Given the description of an element on the screen output the (x, y) to click on. 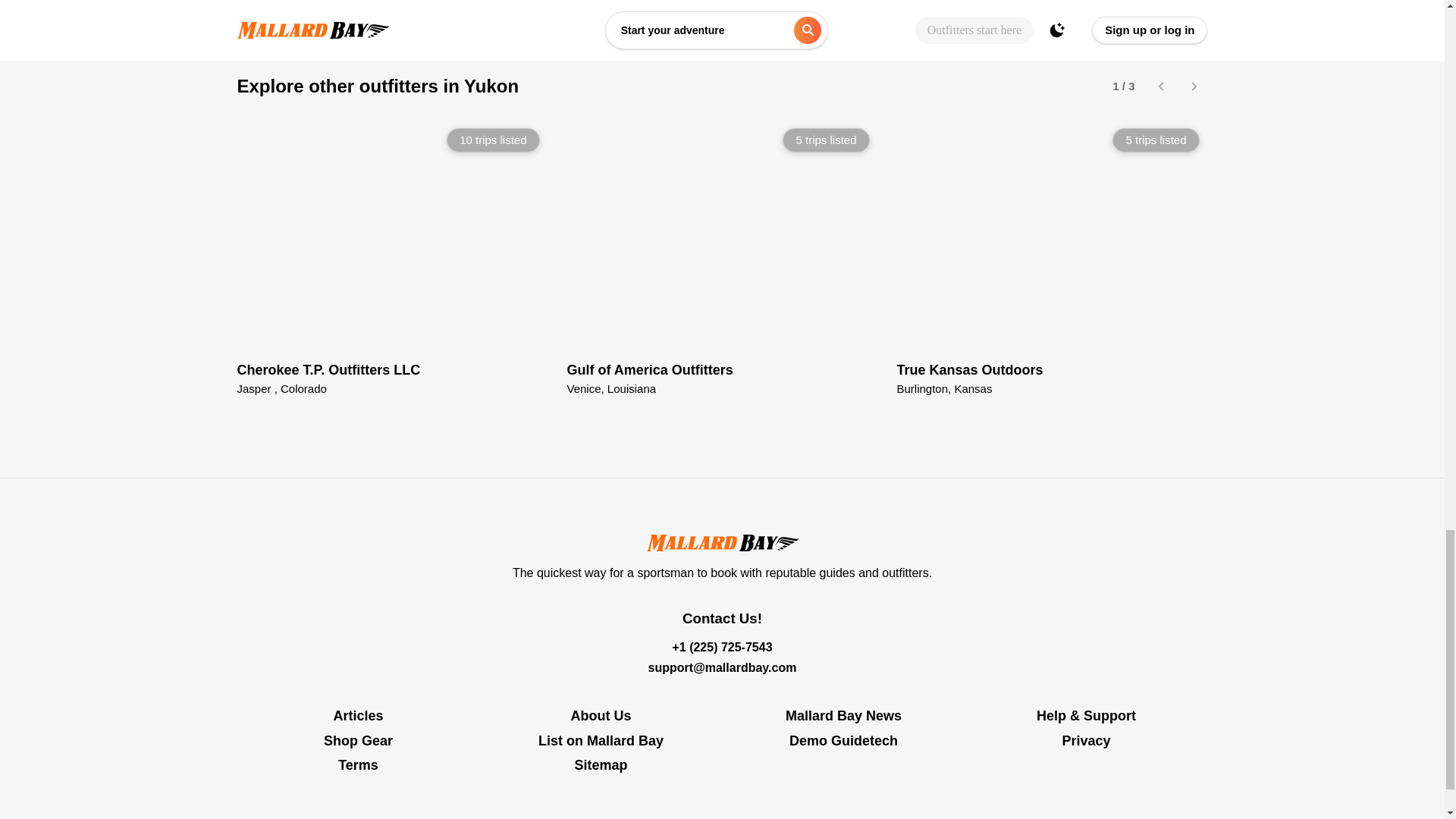
Terms (357, 760)
Right (1194, 86)
Left (1160, 86)
Privacy (1085, 736)
Demo Guidetech (842, 736)
Shop Gear (357, 736)
About Us (600, 715)
Mallard Bay News (1052, 256)
List on Mallard Bay (843, 715)
Articles (723, 256)
